Given the description of an element on the screen output the (x, y) to click on. 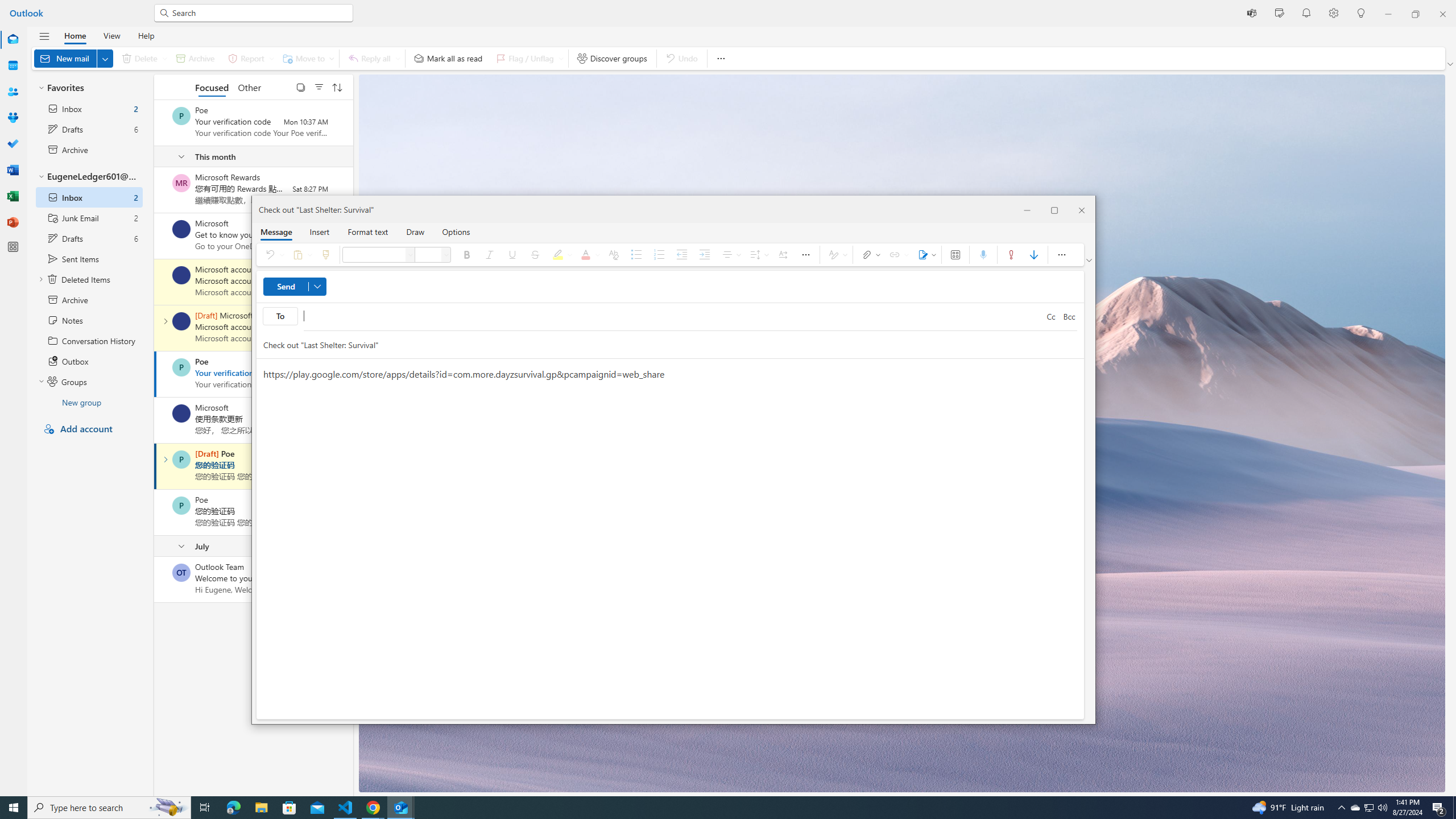
Discover groups (611, 58)
